Given the description of an element on the screen output the (x, y) to click on. 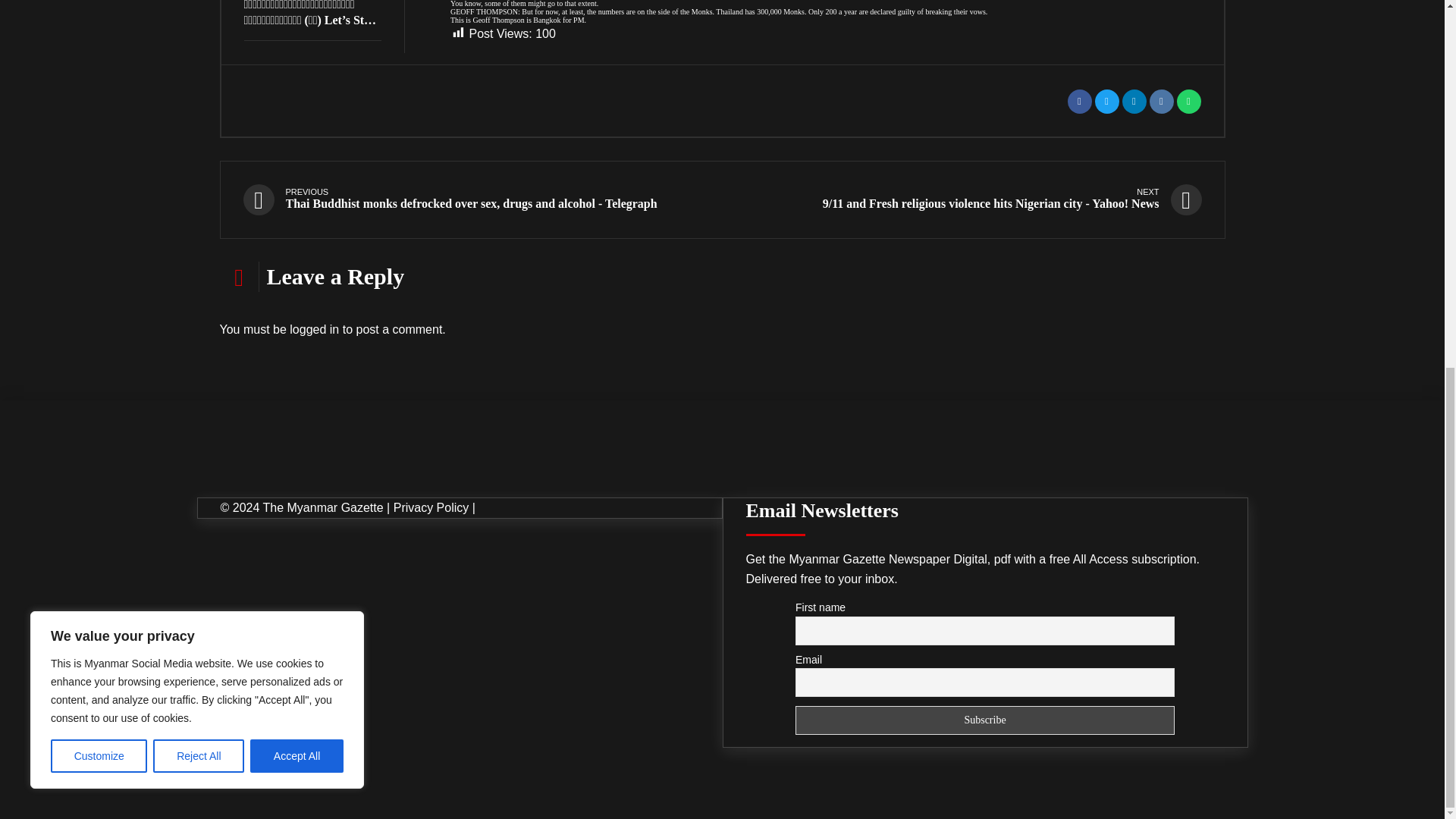
Accept All (296, 92)
Subscribe (984, 719)
Reject All (198, 92)
Customize (98, 92)
